Given the description of an element on the screen output the (x, y) to click on. 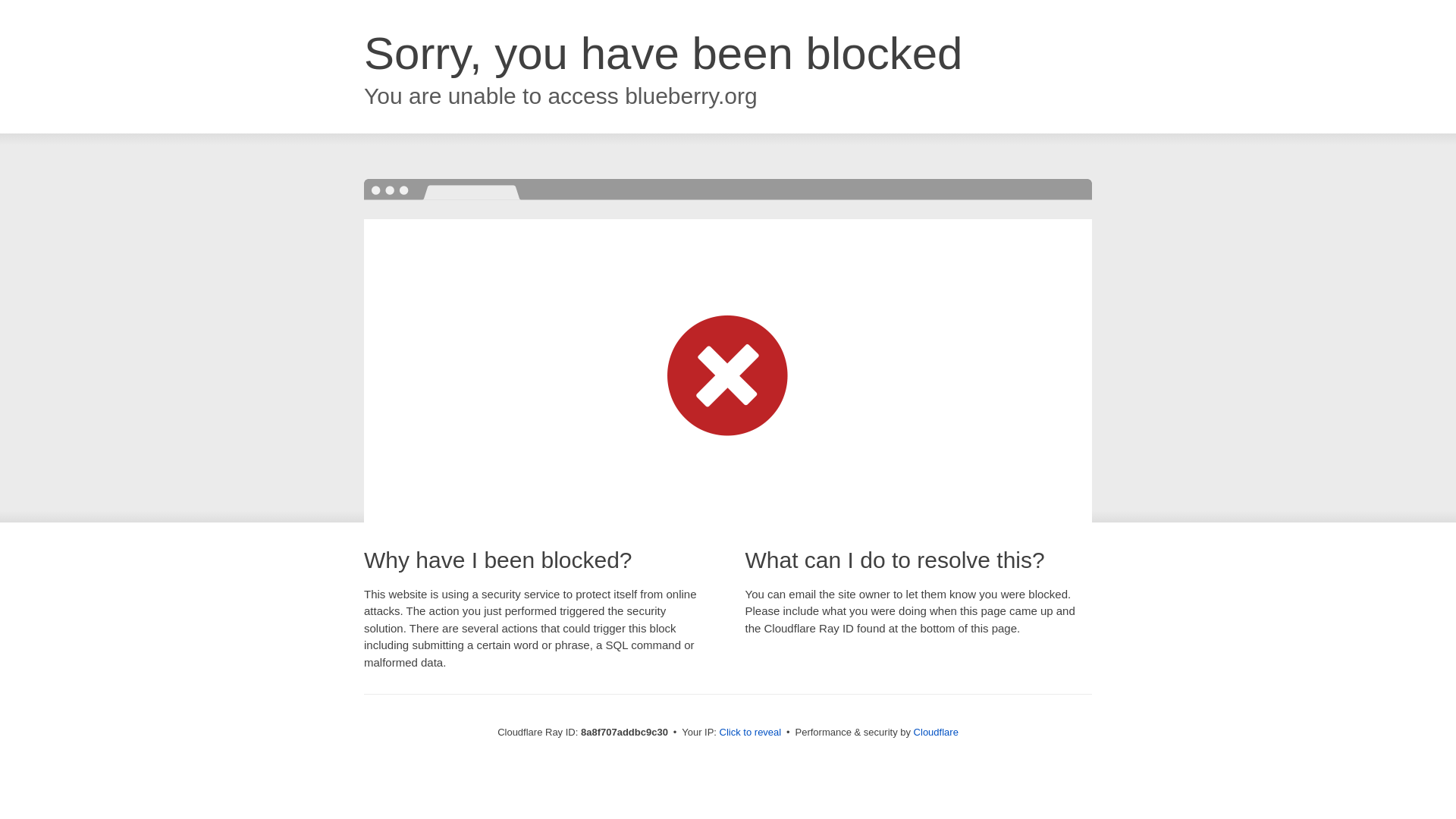
Cloudflare (936, 731)
Click to reveal (750, 732)
